Given the description of an element on the screen output the (x, y) to click on. 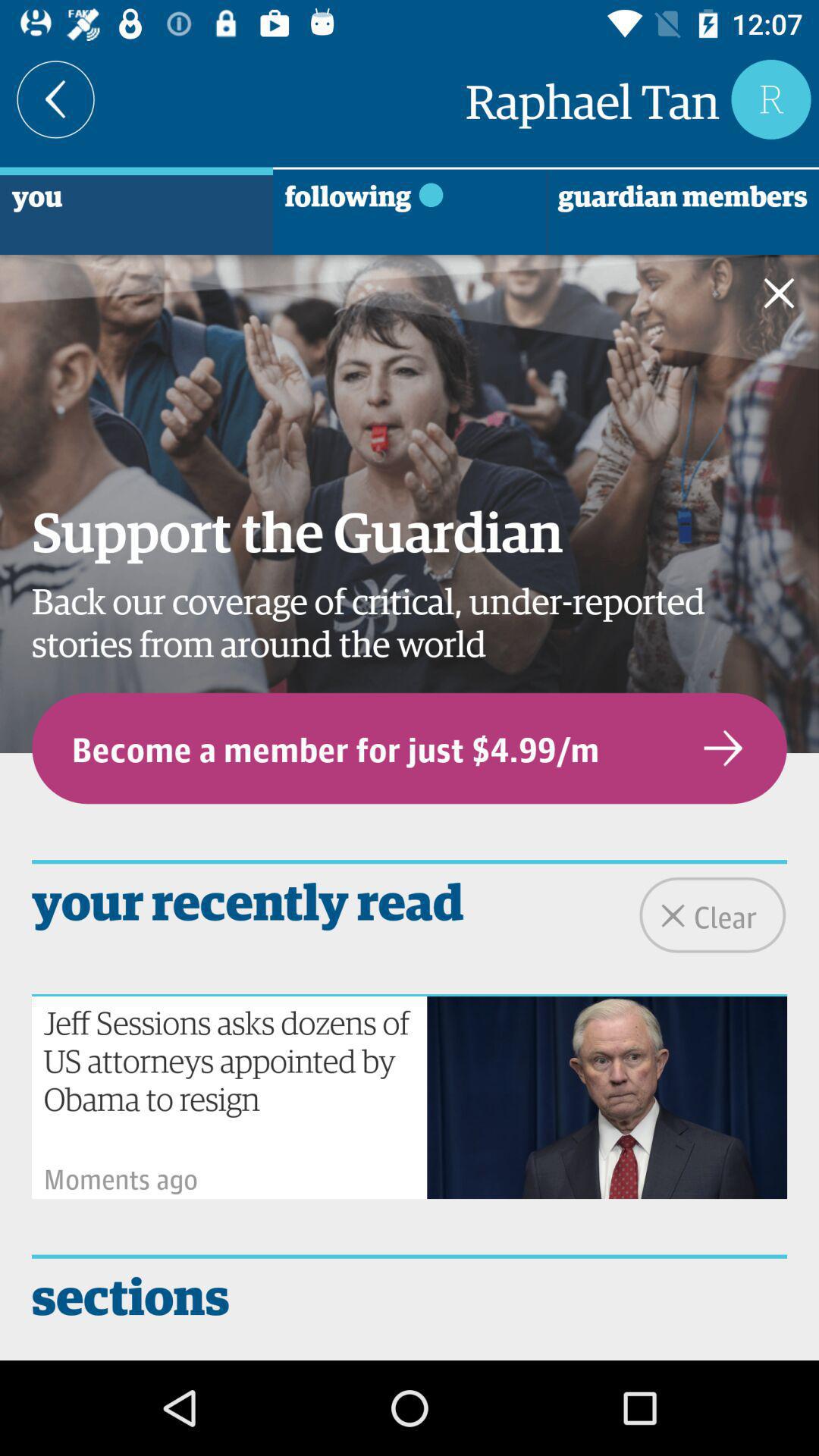
choose item above the back our coverage icon (789, 296)
